Given the description of an element on the screen output the (x, y) to click on. 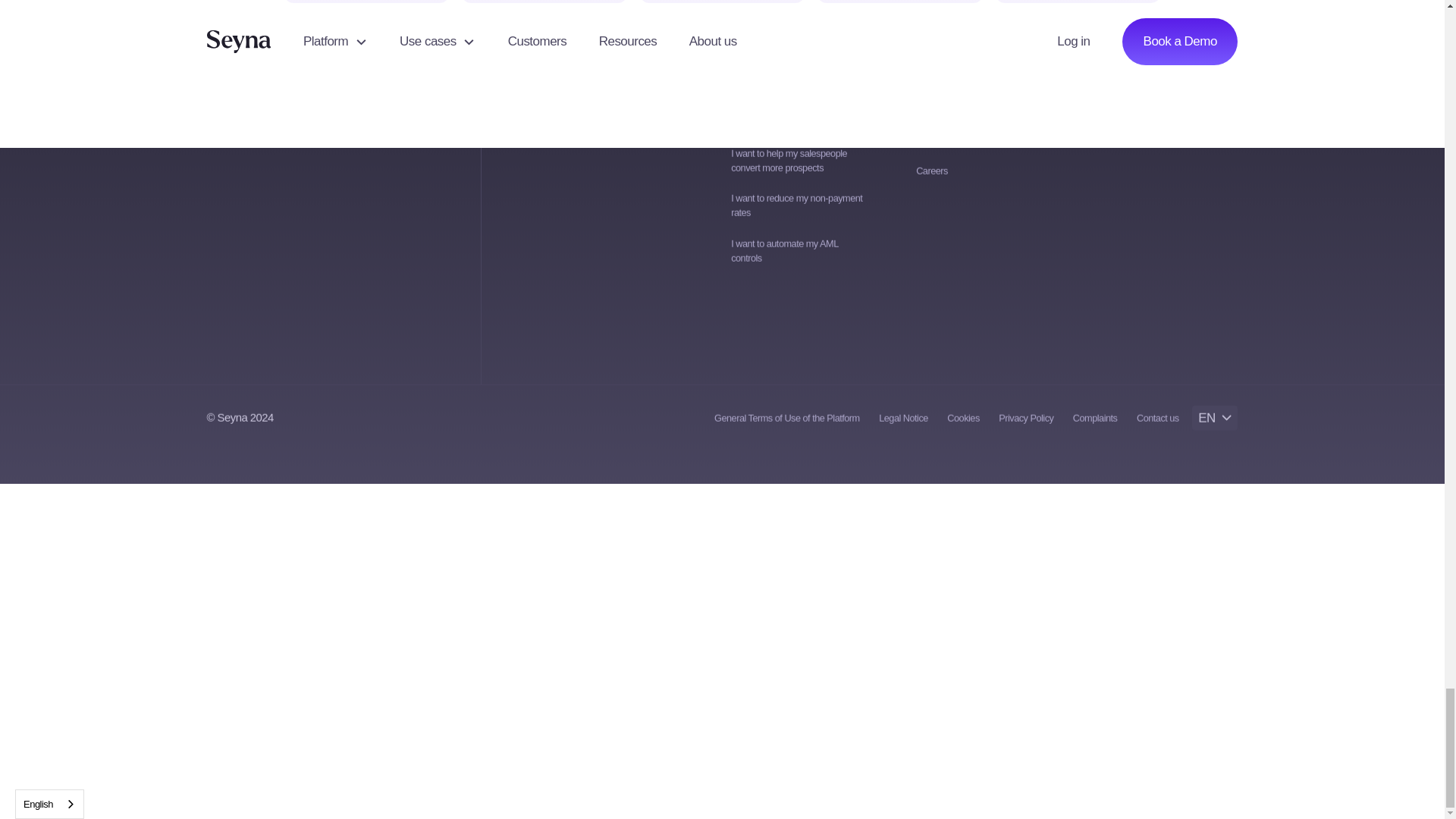
Insurance Product Creation (365, 1)
Policy Management Solution (722, 1)
AML Compliance Solution (899, 1)
Subscription Solution (544, 1)
